Given the description of an element on the screen output the (x, y) to click on. 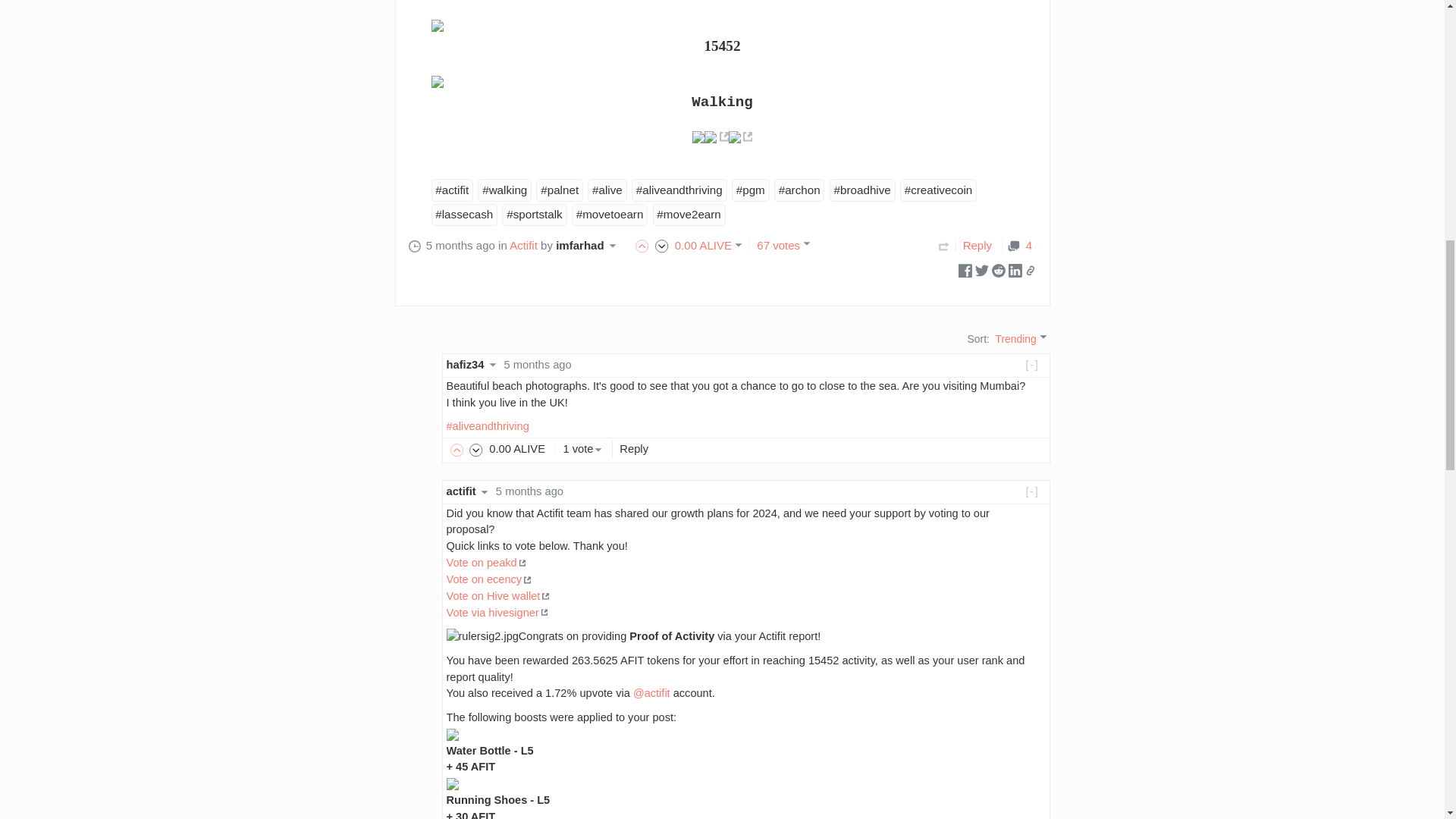
This link will take you away from the app (739, 135)
Share this post (1029, 270)
4 Responses (1019, 245)
Share on Reddit (998, 269)
imfarhad (588, 245)
Share on Facebook (965, 269)
This link will take you away from the app (716, 135)
Share on Twitter (981, 269)
Share on Linkedin (1015, 269)
Actifit (523, 245)
